Given the description of an element on the screen output the (x, y) to click on. 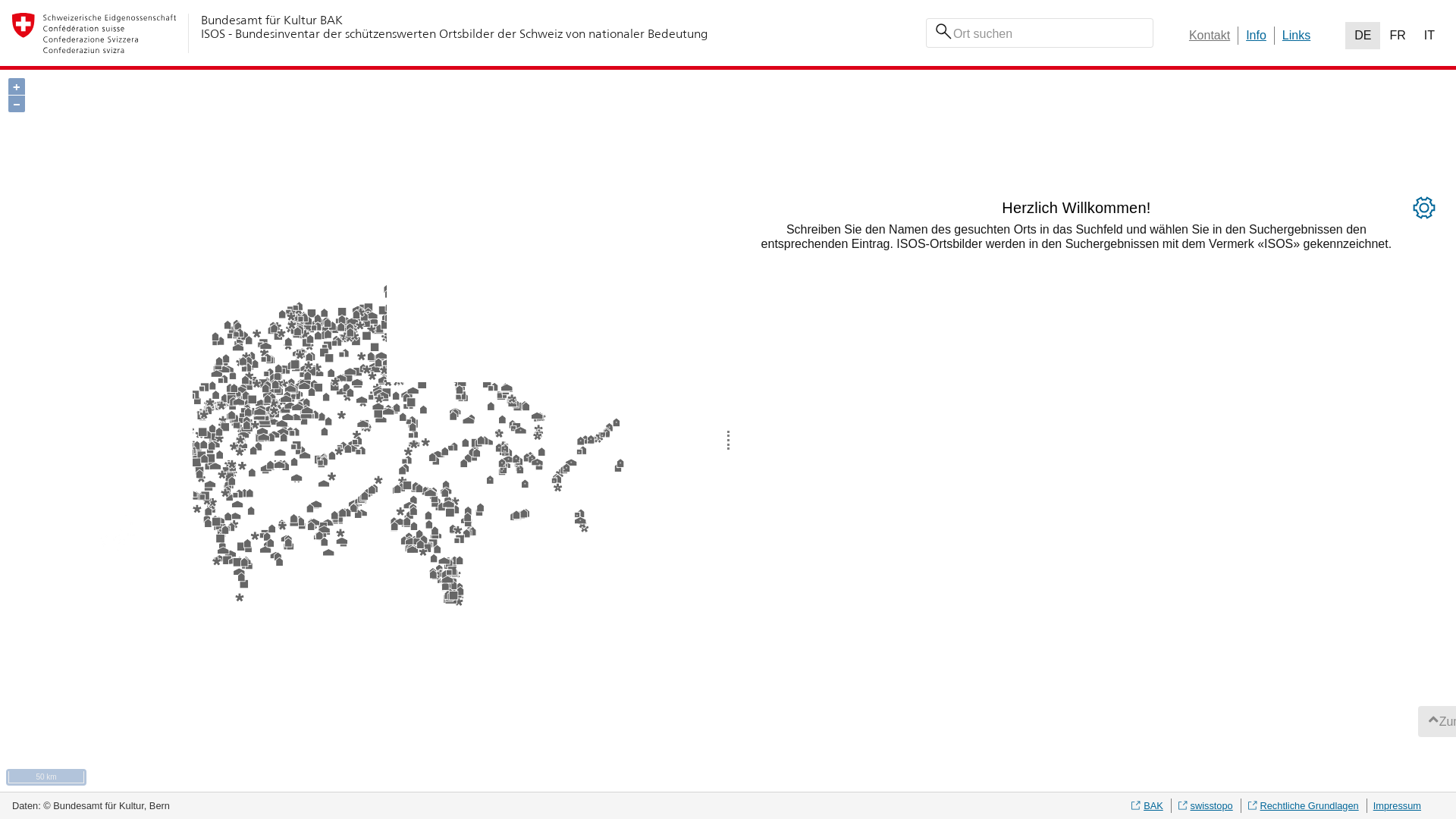
+ Element type: text (16, 86)
IT Element type: text (1429, 35)
FR Element type: text (1397, 35)
DE Element type: text (1362, 35)
